Given the description of an element on the screen output the (x, y) to click on. 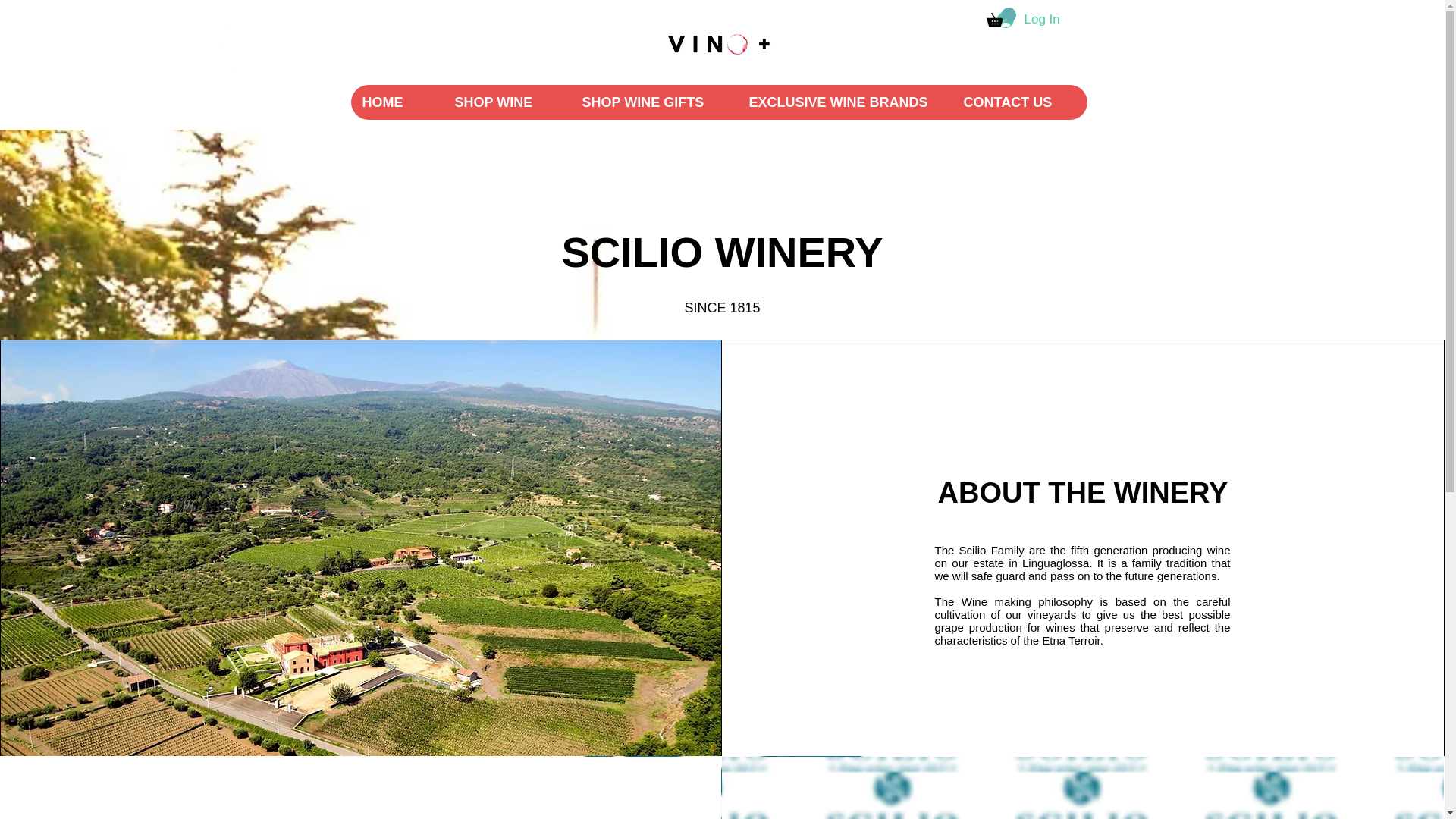
SHOP WINE (506, 102)
SHOP WINE GIFTS (653, 102)
CONTACT US (1018, 102)
Log In (1026, 19)
HOME (396, 102)
EXCLUSIVE WINE BRANDS (844, 102)
